Given the description of an element on the screen output the (x, y) to click on. 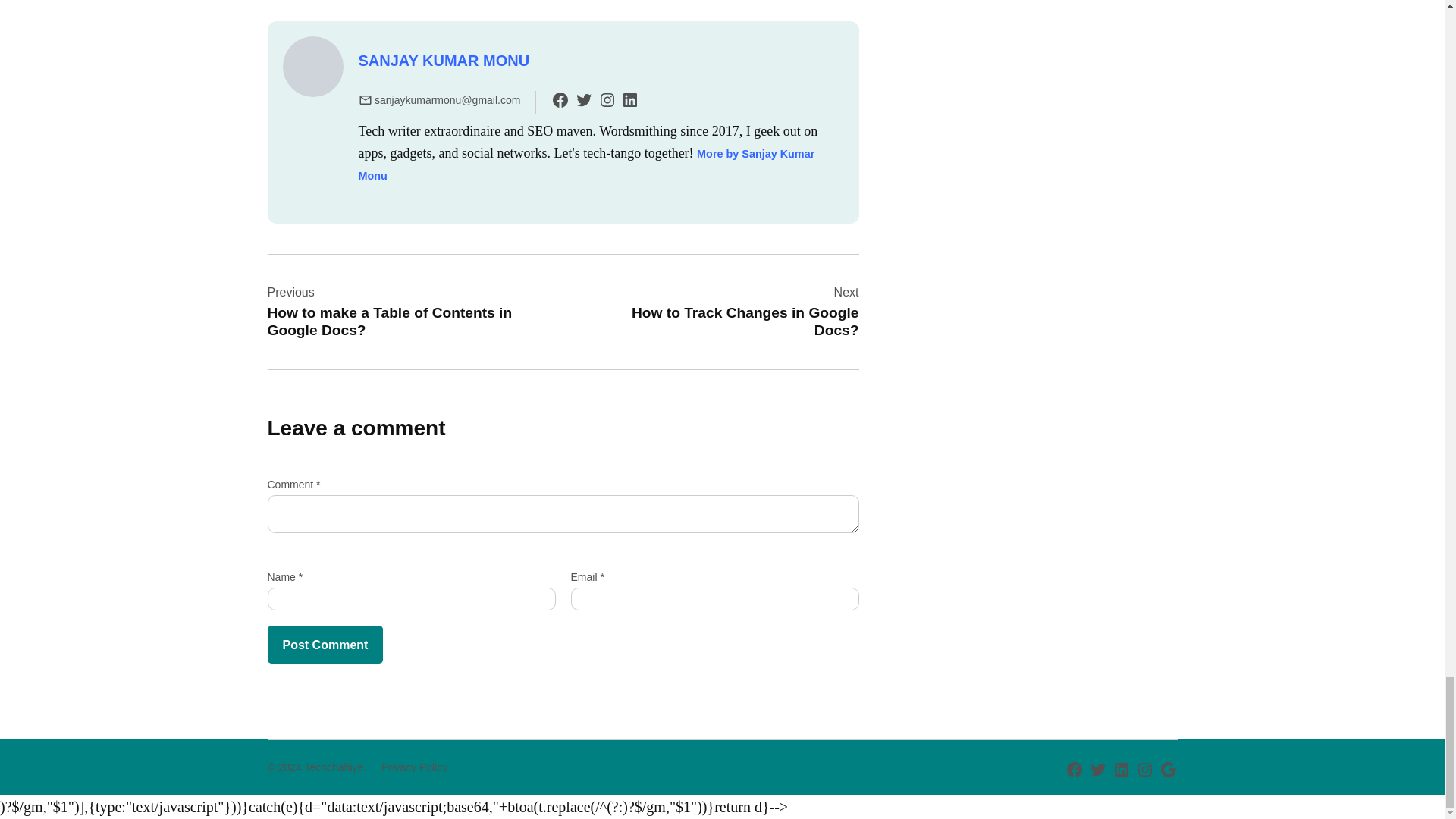
twitter (583, 99)
linkedin (630, 99)
facebook (560, 99)
Post Comment (324, 644)
instagram (606, 99)
